Given the description of an element on the screen output the (x, y) to click on. 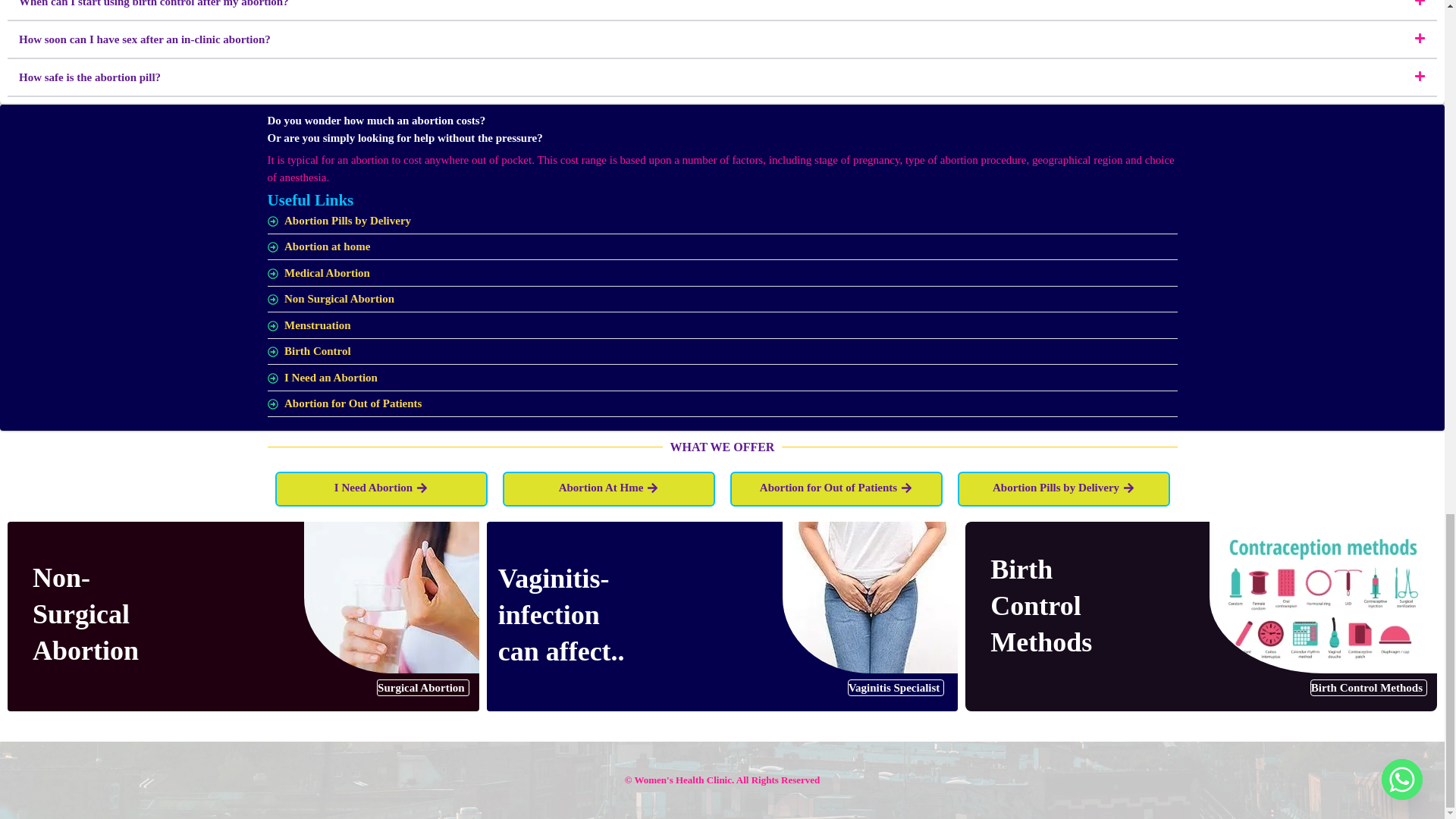
Abortion Pills by Delivery  (721, 221)
How safe is the abortion pill? (89, 77)
When can I start using birth control after my abortion? (153, 3)
Abortion at home (721, 246)
I Need an Abortion (721, 378)
Birth Control (721, 351)
Non Surgical Abortion (721, 299)
How soon can I have sex after an in-clinic abortion? (144, 39)
Menstruation (721, 325)
Abortion for Out of Patients (721, 403)
